Given the description of an element on the screen output the (x, y) to click on. 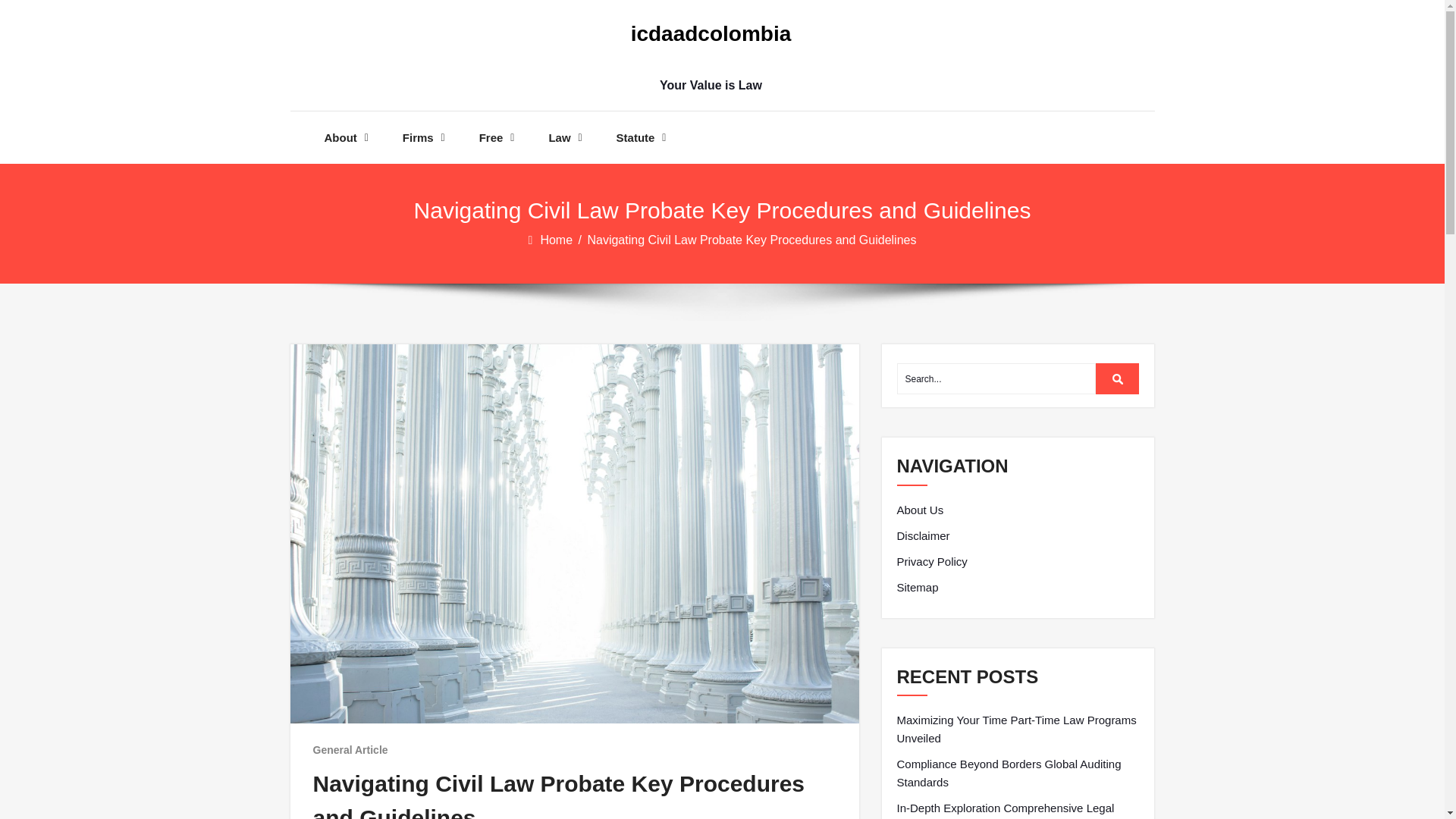
Search (1118, 378)
Home (557, 239)
About Us (919, 510)
Search (1118, 378)
icdaadcolombia (710, 34)
General Article (350, 749)
